Given the description of an element on the screen output the (x, y) to click on. 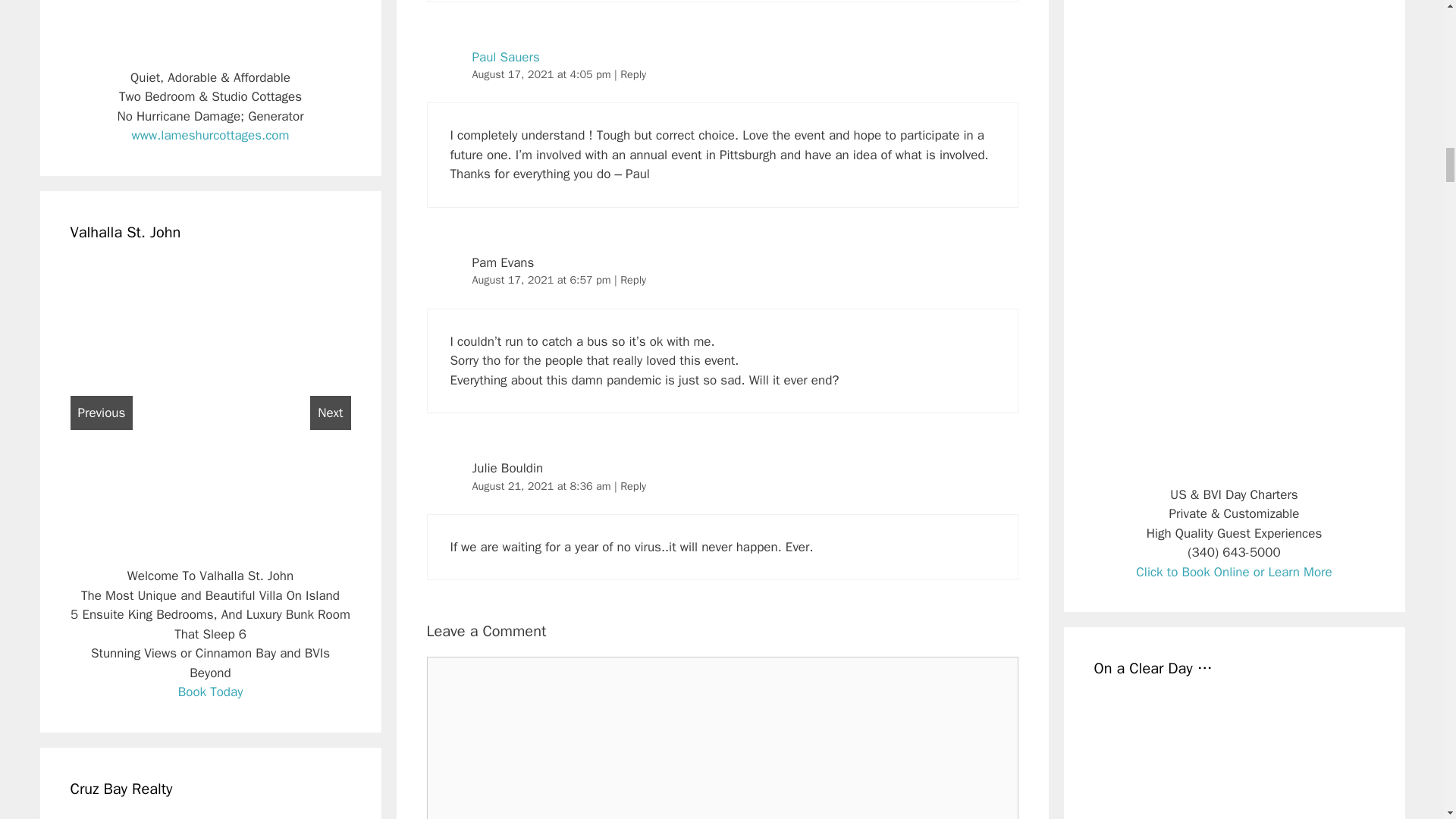
August 17, 2021 at 4:05 pm (542, 74)
Reply (633, 74)
Paul Sauers (504, 57)
